Given the description of an element on the screen output the (x, y) to click on. 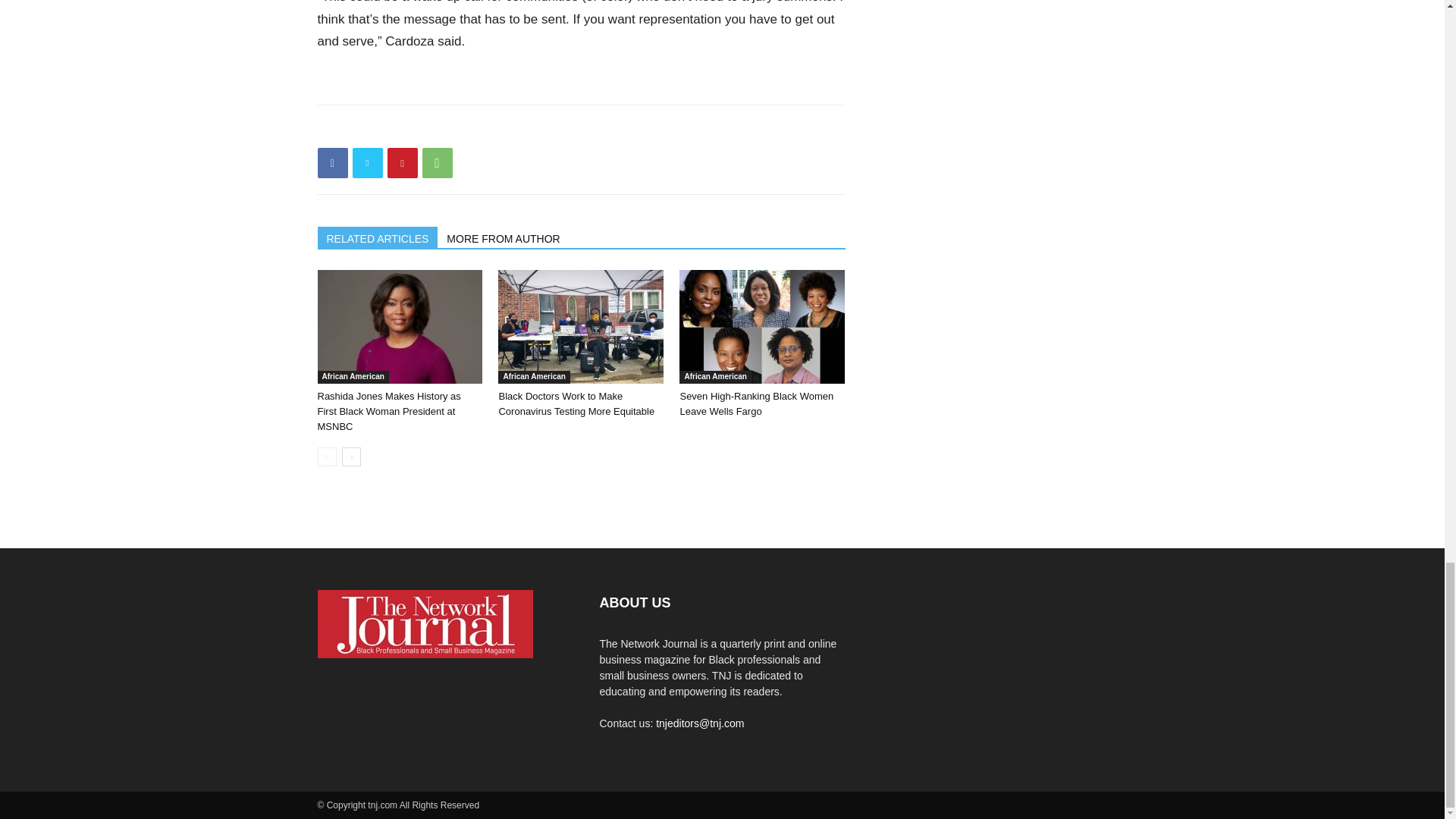
Twitter (366, 163)
Facebook (332, 163)
